Given the description of an element on the screen output the (x, y) to click on. 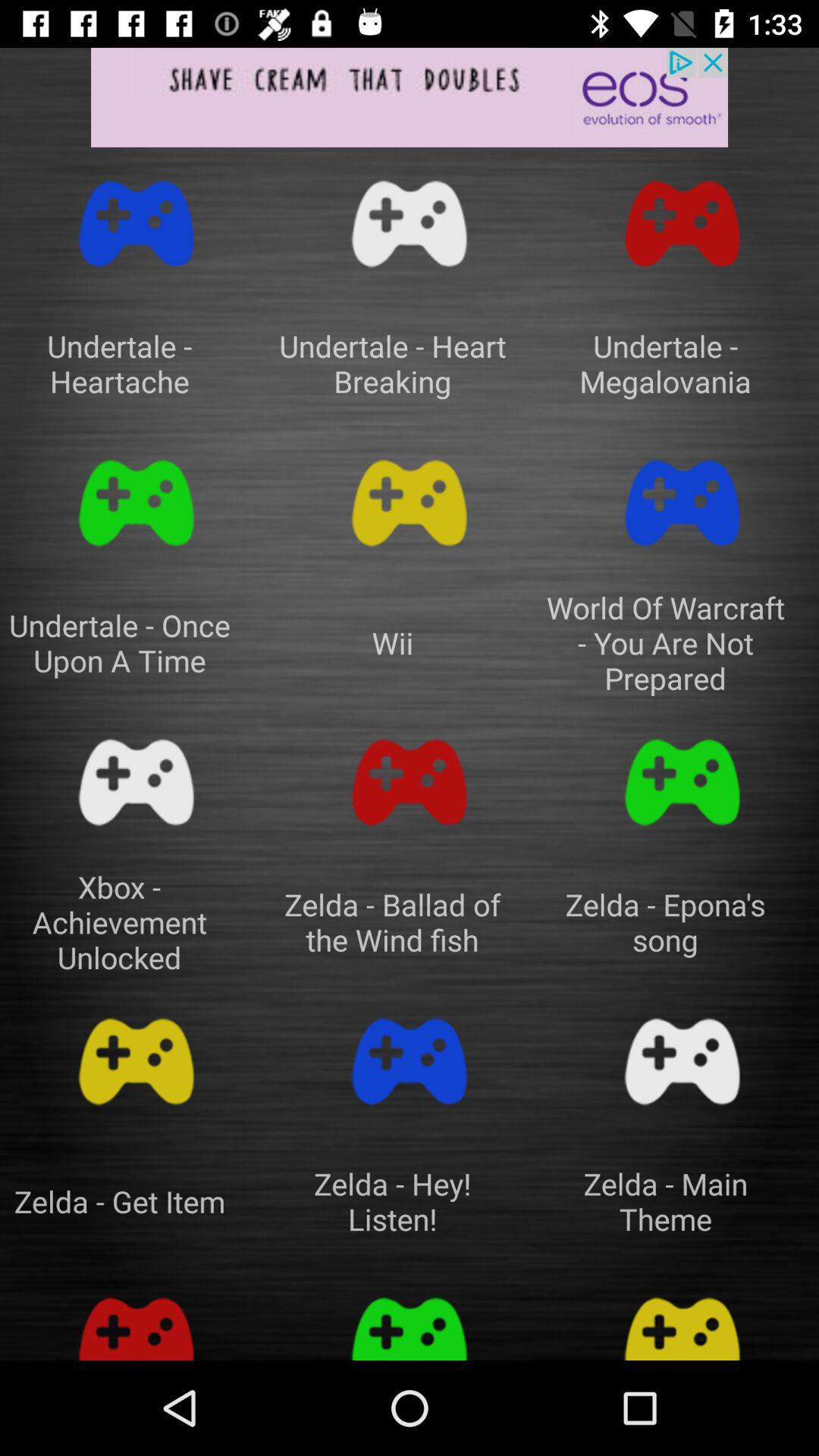
games (136, 1320)
